Given the description of an element on the screen output the (x, y) to click on. 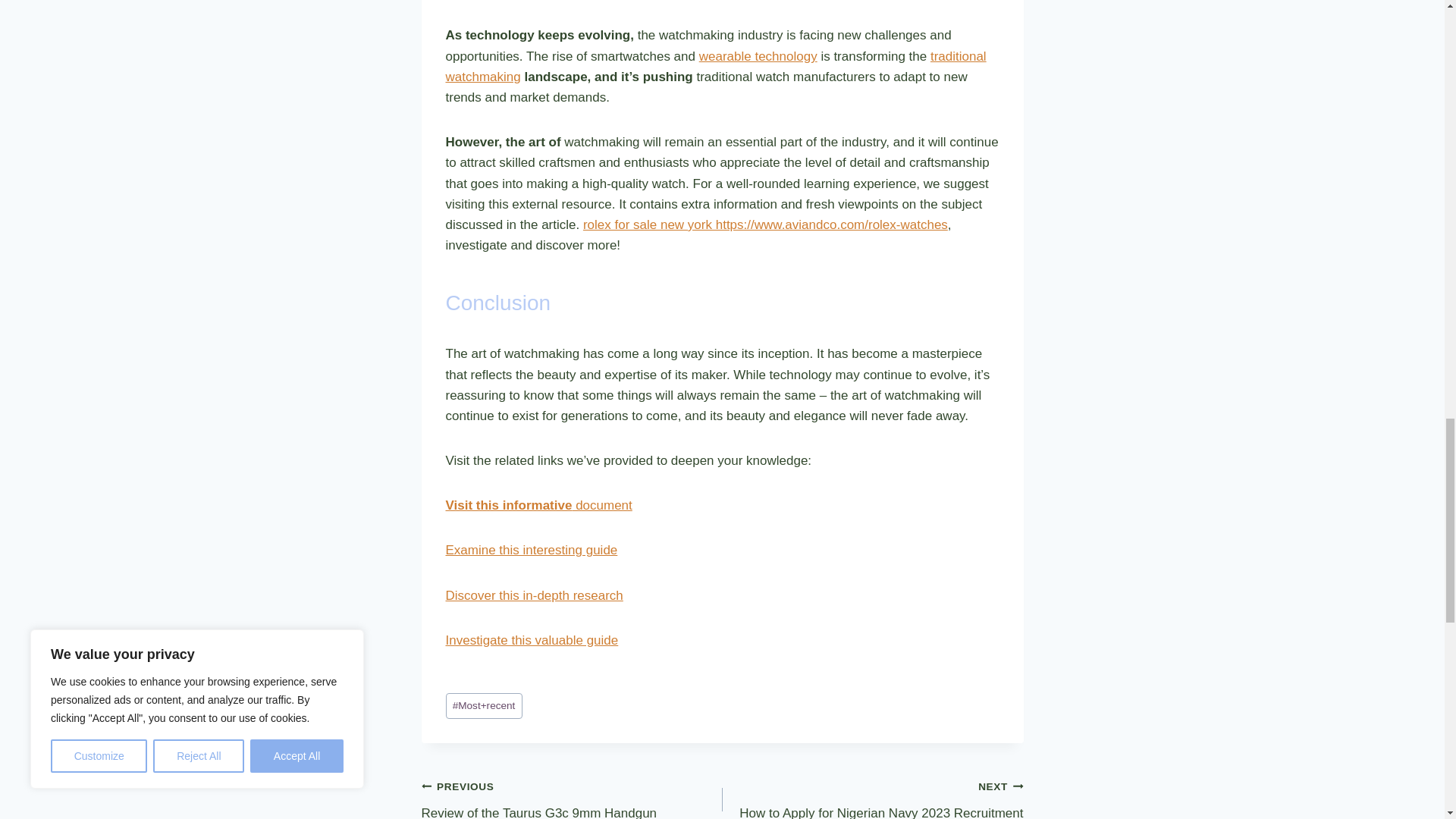
Discover this in-depth research (534, 595)
traditional watchmaking (716, 66)
wearable technology (572, 797)
Examine this interesting guide (757, 56)
Visit this informative document (531, 549)
Investigate this valuable guide (872, 797)
